Given the description of an element on the screen output the (x, y) to click on. 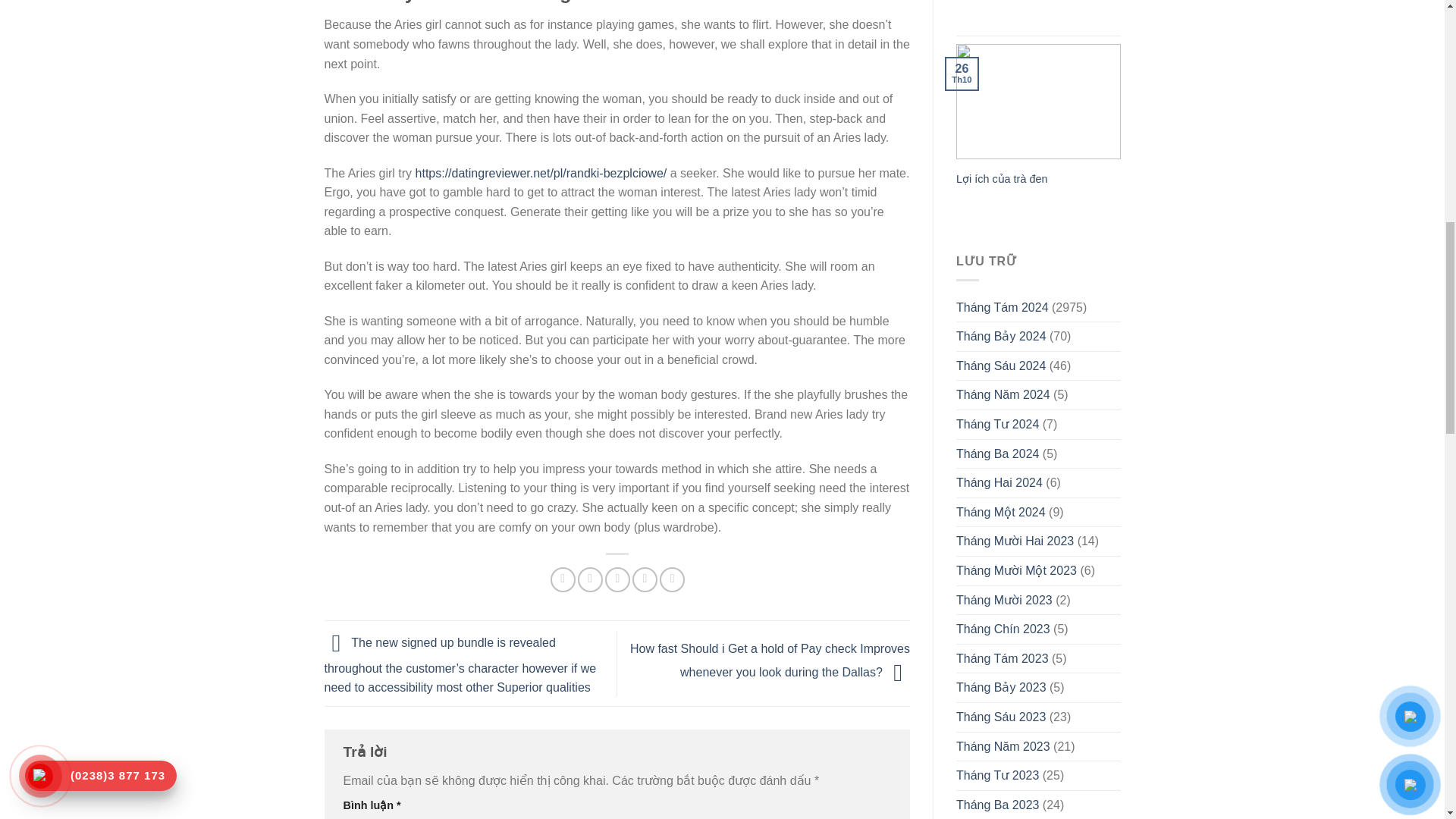
Share on Twitter (590, 579)
Email to a Friend (617, 579)
Share on LinkedIn (671, 579)
Pin on Pinterest (644, 579)
Share on Facebook (562, 579)
